Given the description of an element on the screen output the (x, y) to click on. 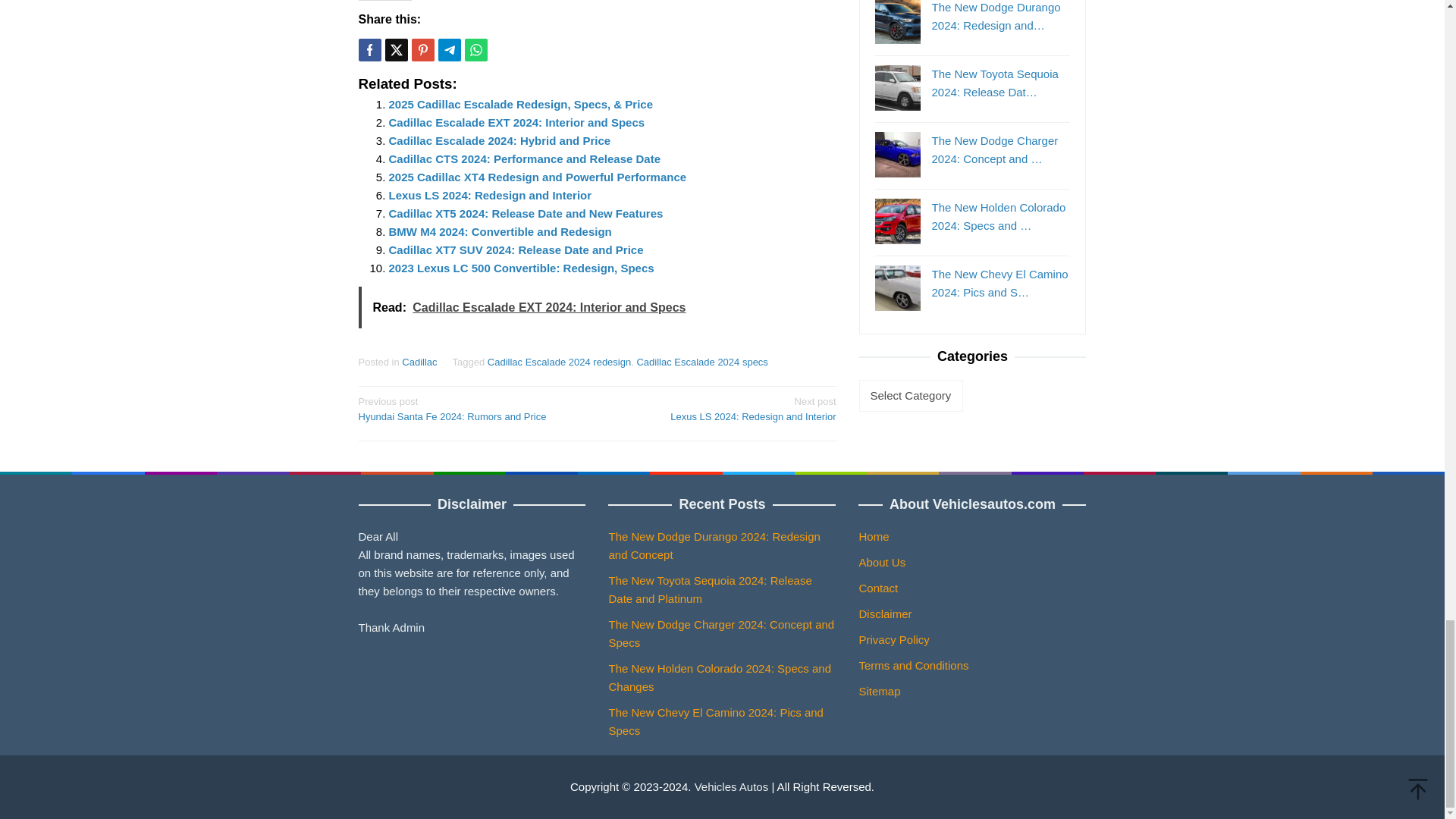
Tweet this (396, 49)
Cadillac Escalade 2024: Hybrid and Price (499, 140)
Cadillac XT7 SUV 2024: Release Date and Price (515, 249)
Cadillac XT5 2024: Release Date and New Features (525, 213)
Whatsapp (475, 49)
Share this (369, 49)
Cadillac CTS 2024: Performance and Release Date (524, 158)
2025 Cadillac XT4 Redesign and Powerful Performance (536, 176)
Telegram Share (449, 49)
Cadillac Escalade EXT 2024: Interior and Specs (516, 122)
